Given the description of an element on the screen output the (x, y) to click on. 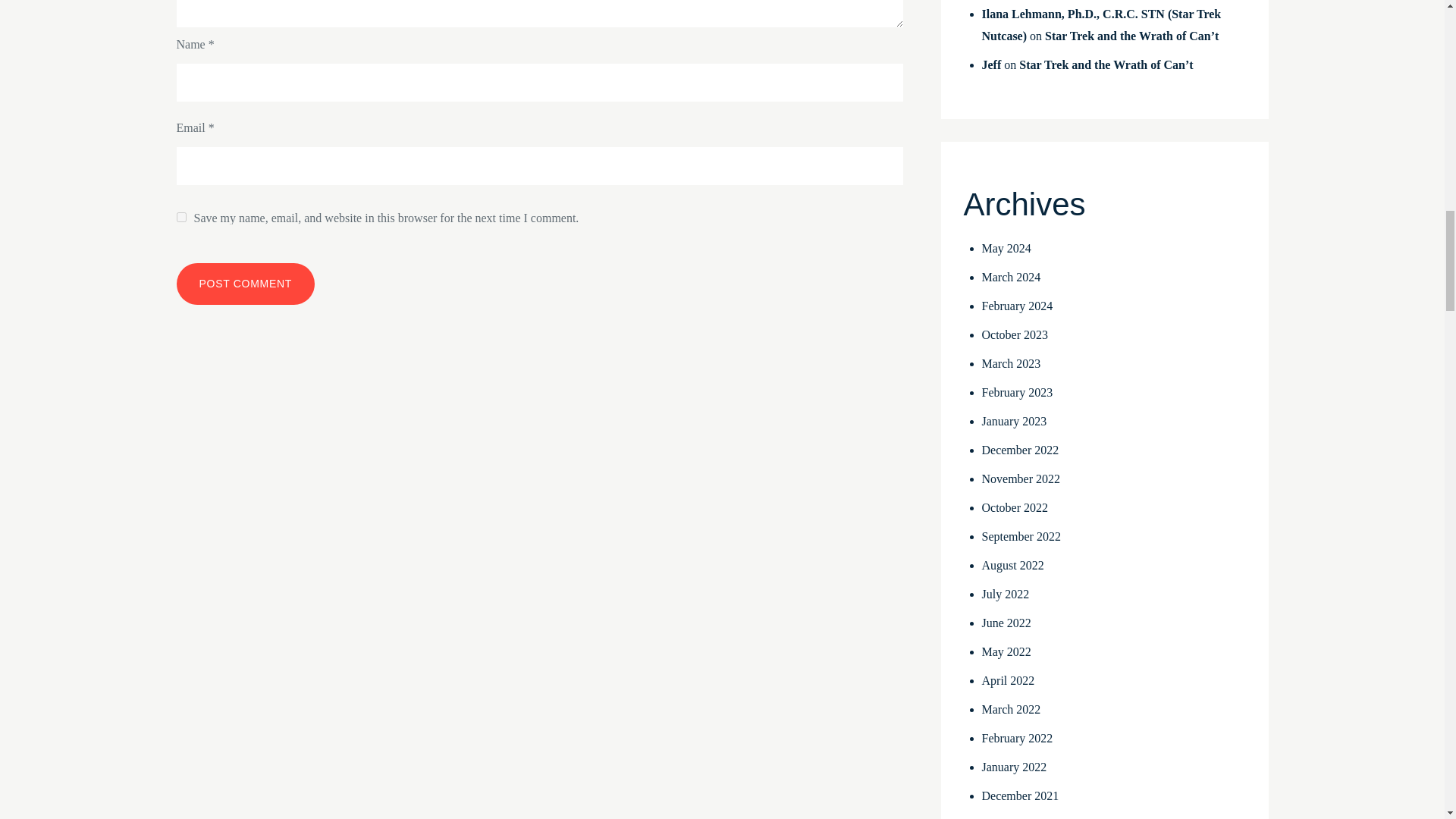
March 2024 (1011, 277)
May 2024 (1005, 247)
Post Comment (245, 283)
yes (181, 216)
Post Comment (245, 283)
